Given the description of an element on the screen output the (x, y) to click on. 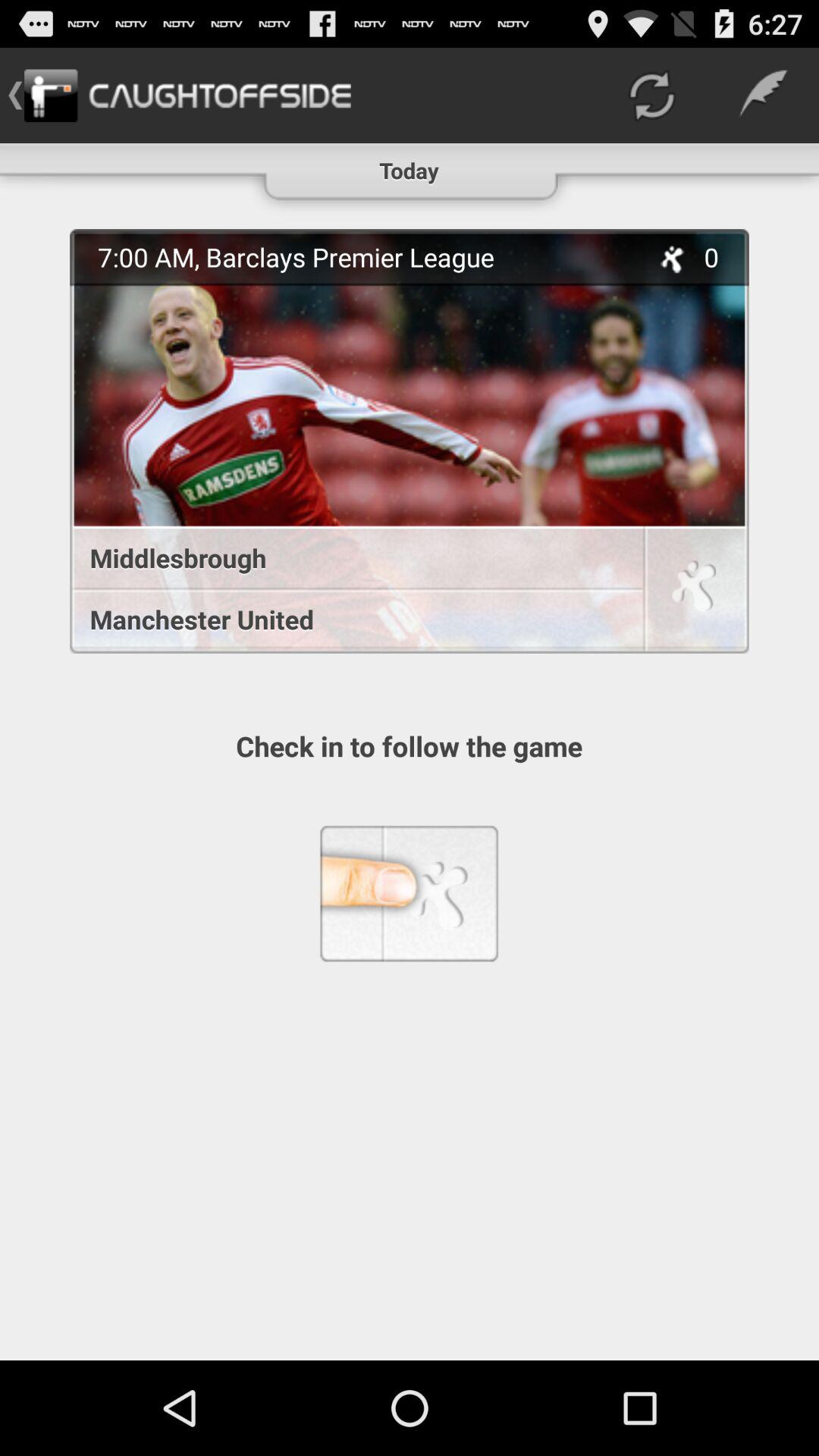
check in (694, 591)
